Given the description of an element on the screen output the (x, y) to click on. 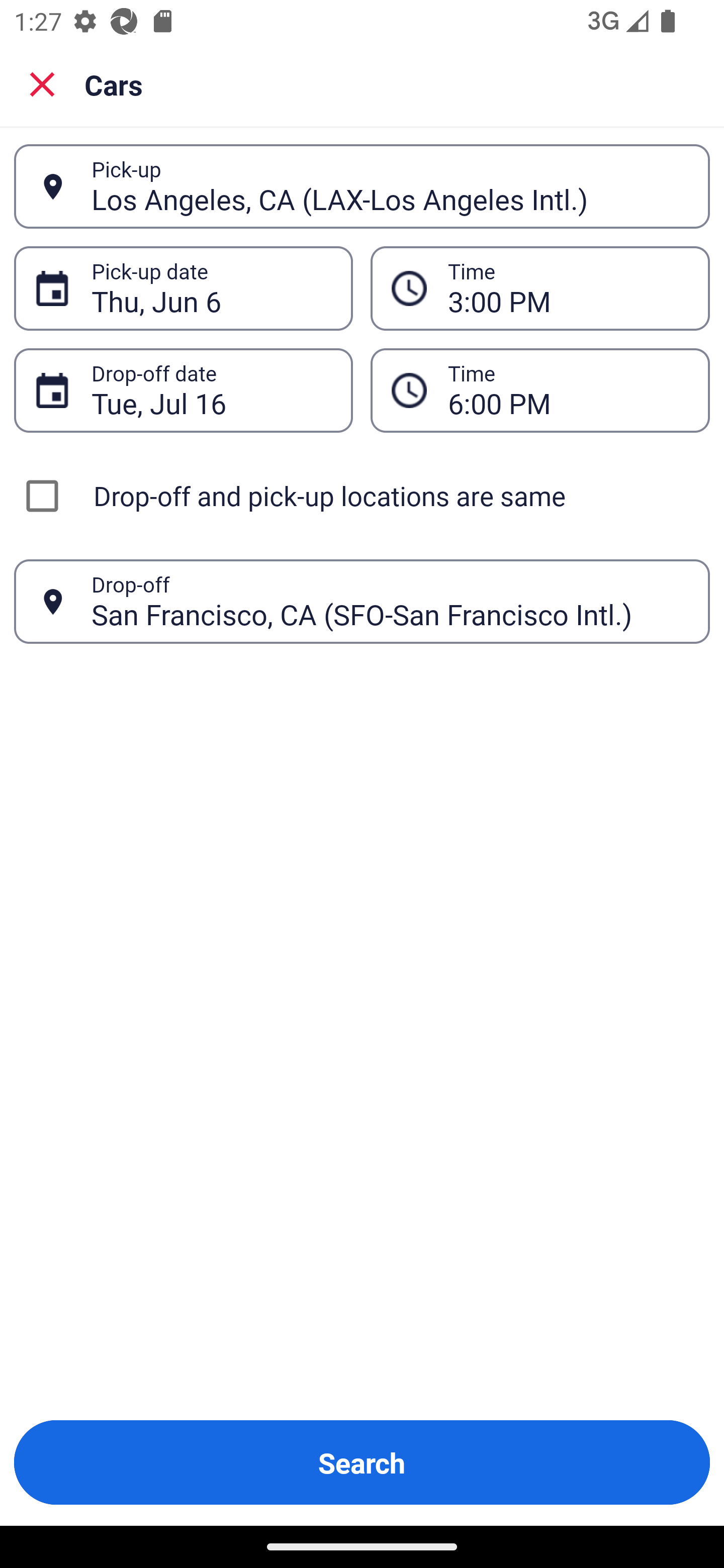
Close search screen (42, 84)
Los Angeles, CA (LAX-Los Angeles Intl.) (389, 186)
Thu, Jun 6 (211, 288)
3:00 PM (568, 288)
Tue, Jul 16 (211, 390)
6:00 PM (568, 390)
Drop-off and pick-up locations are same (361, 495)
San Francisco, CA (SFO-San Francisco Intl.) (389, 601)
Search Button Search (361, 1462)
